Given the description of an element on the screen output the (x, y) to click on. 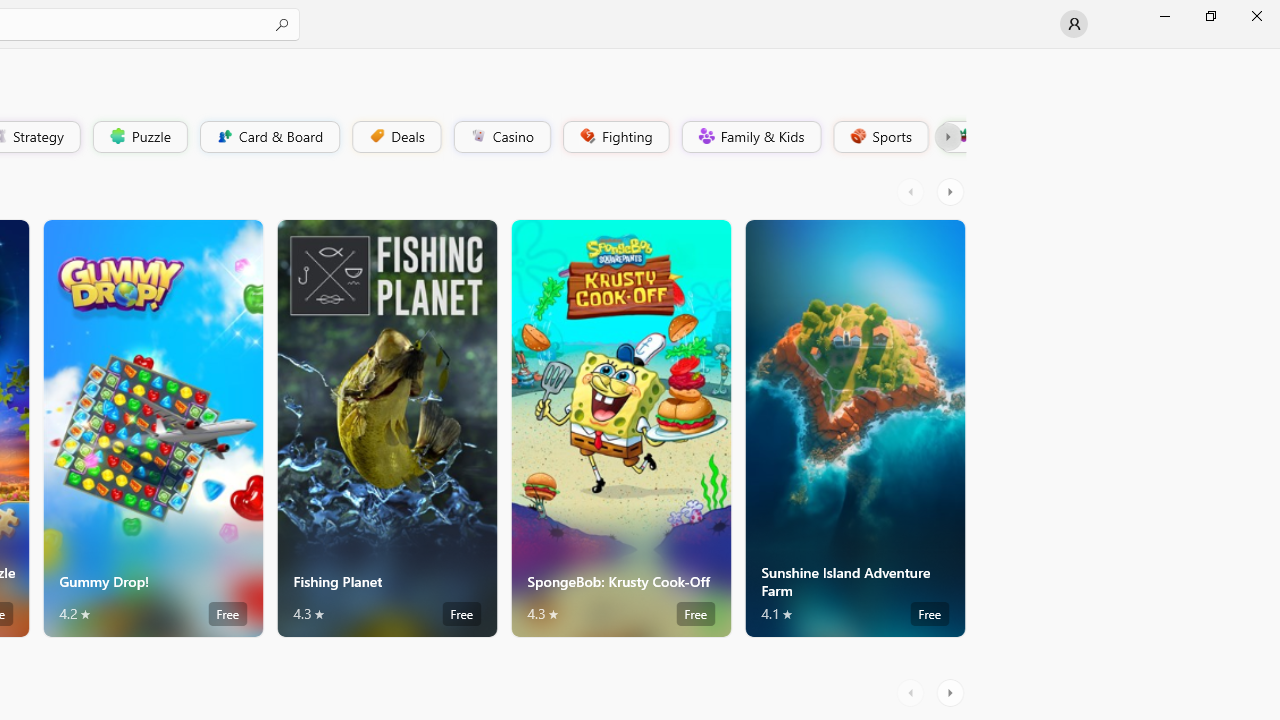
Deals (395, 136)
Family & Kids (750, 136)
